Given the description of an element on the screen output the (x, y) to click on. 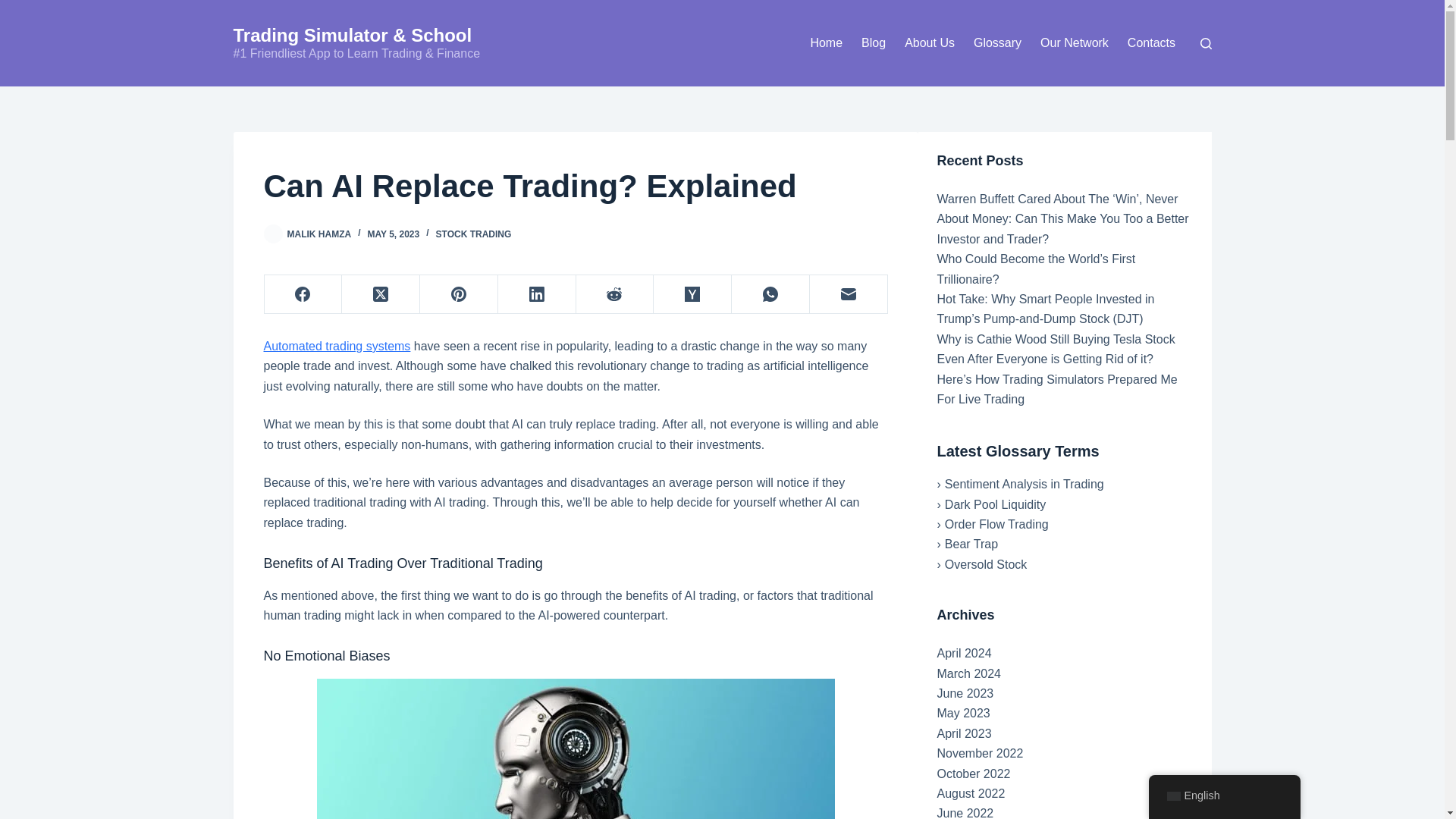
Automated trading systems (336, 345)
Can AI Replace Trading? Explained (575, 185)
Our Network (1074, 43)
MALIK HAMZA (318, 234)
English (1172, 795)
Posts by Malik Hamza (318, 234)
STOCK TRADING (473, 234)
Skip to content (15, 7)
